Given the description of an element on the screen output the (x, y) to click on. 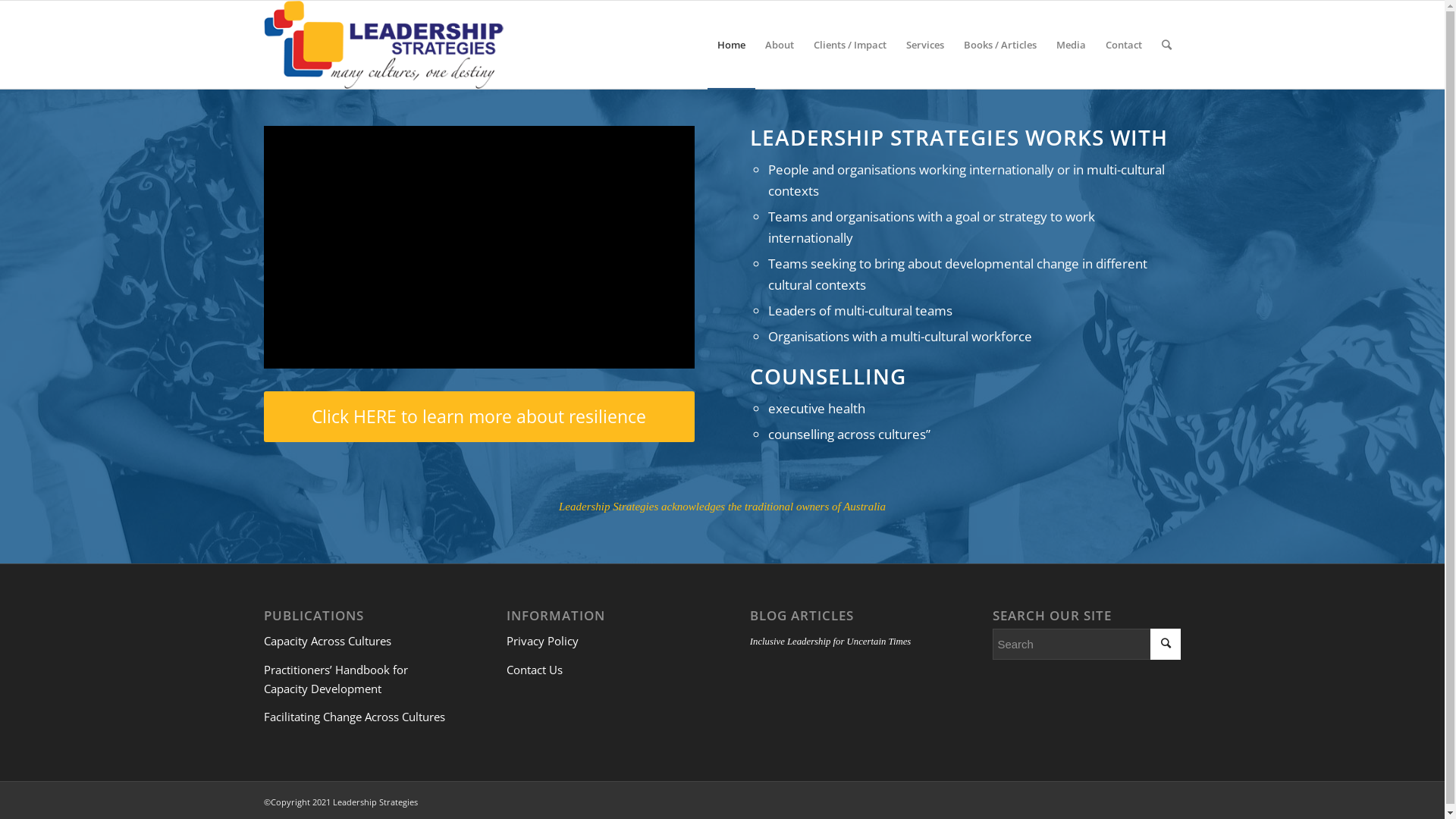
Contact Element type: text (1123, 44)
Books / Articles Element type: text (999, 44)
Click HERE to learn more about resilience Element type: text (479, 416)
Clients / Impact Element type: text (849, 44)
Inclusive Leadership for Uncertain Times Element type: text (829, 641)
Media Element type: text (1070, 44)
Services Element type: text (924, 44)
Facilitating Change Across Cultures Element type: text (354, 716)
Privacy Policy Element type: text (542, 640)
About Element type: text (779, 44)
Capacity Across Cultures Element type: text (327, 640)
Home Element type: text (730, 44)
Contact Us Element type: text (534, 669)
